Given the description of an element on the screen output the (x, y) to click on. 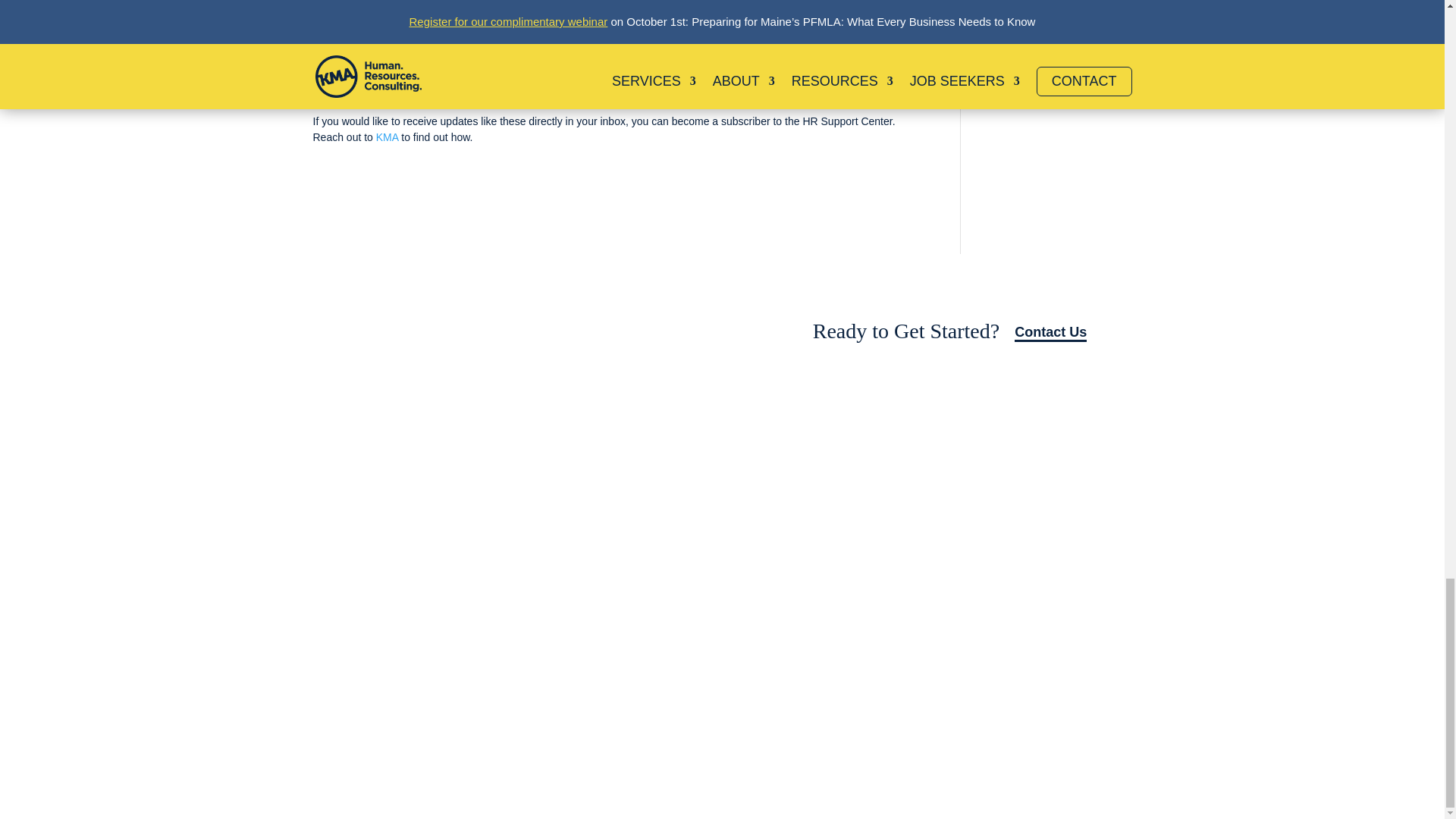
Articles (777, 507)
KMA Recruiting (681, 532)
Sign Up (630, 333)
The Stakeholders (801, 532)
Compensation (679, 557)
HR Consulting (679, 507)
Contact Us (1050, 333)
KMA (386, 137)
